Given the description of an element on the screen output the (x, y) to click on. 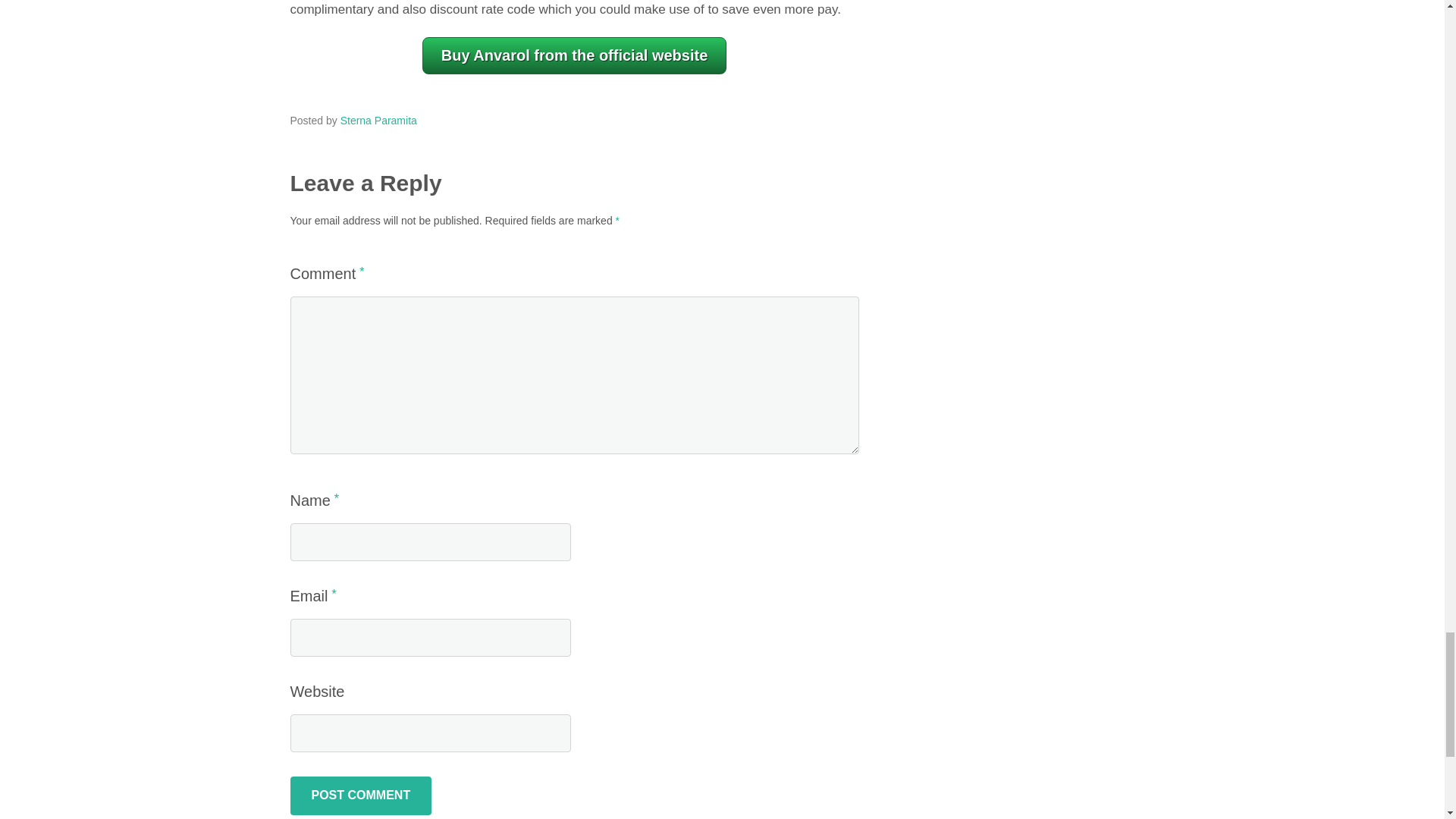
Posts by Sterna Paramita (378, 120)
Sterna Paramita (378, 120)
Post Comment (359, 795)
Post Comment (359, 795)
